Given the description of an element on the screen output the (x, y) to click on. 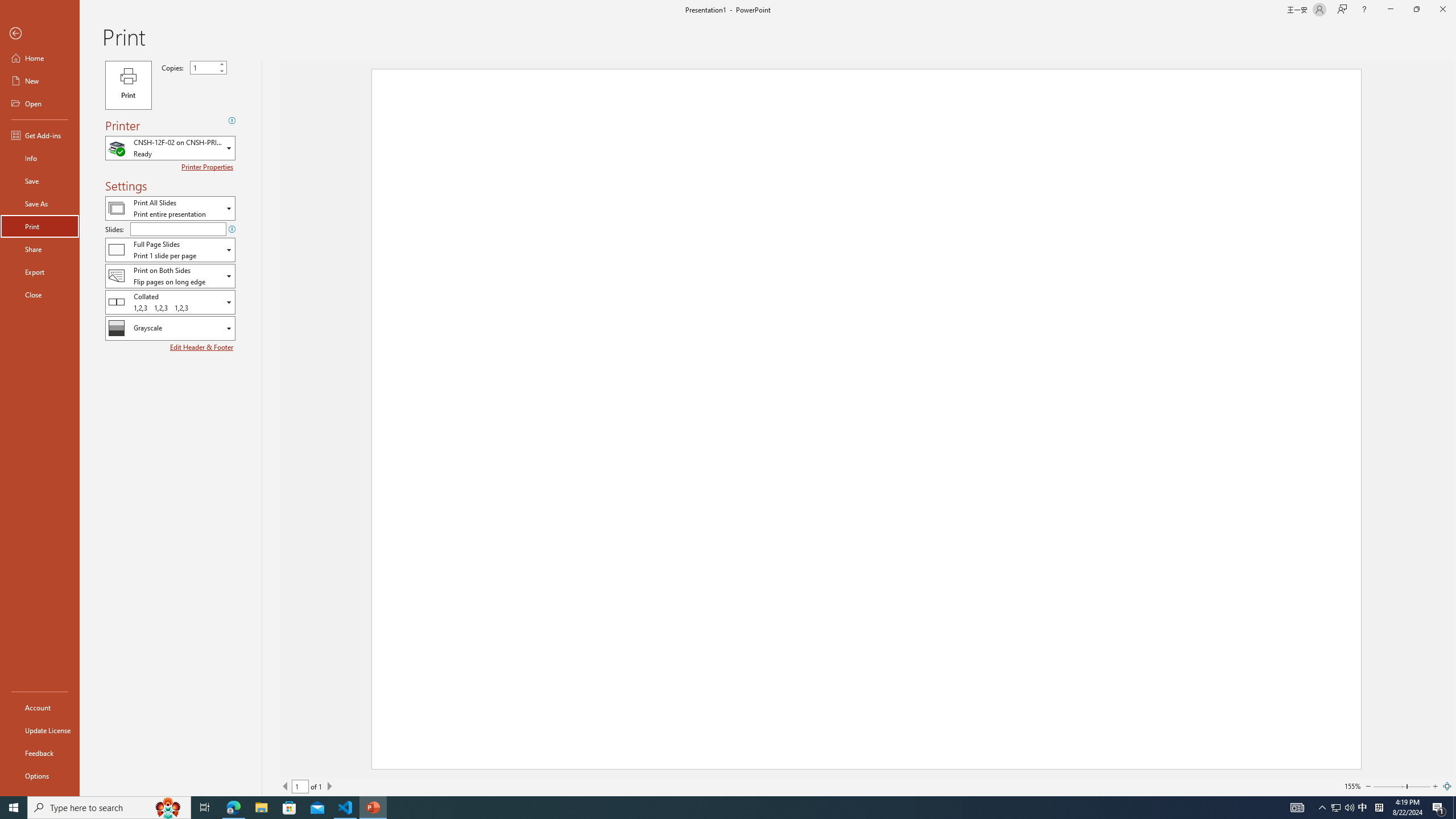
Slides (178, 228)
Back (40, 33)
Options (40, 775)
Color/Grayscale (169, 328)
Copies (208, 67)
Update License (40, 730)
Open (229, 327)
Collation (169, 301)
Page left (1389, 786)
Open (40, 102)
Slides and Handouts (169, 249)
Copies (203, 67)
